Given the description of an element on the screen output the (x, y) to click on. 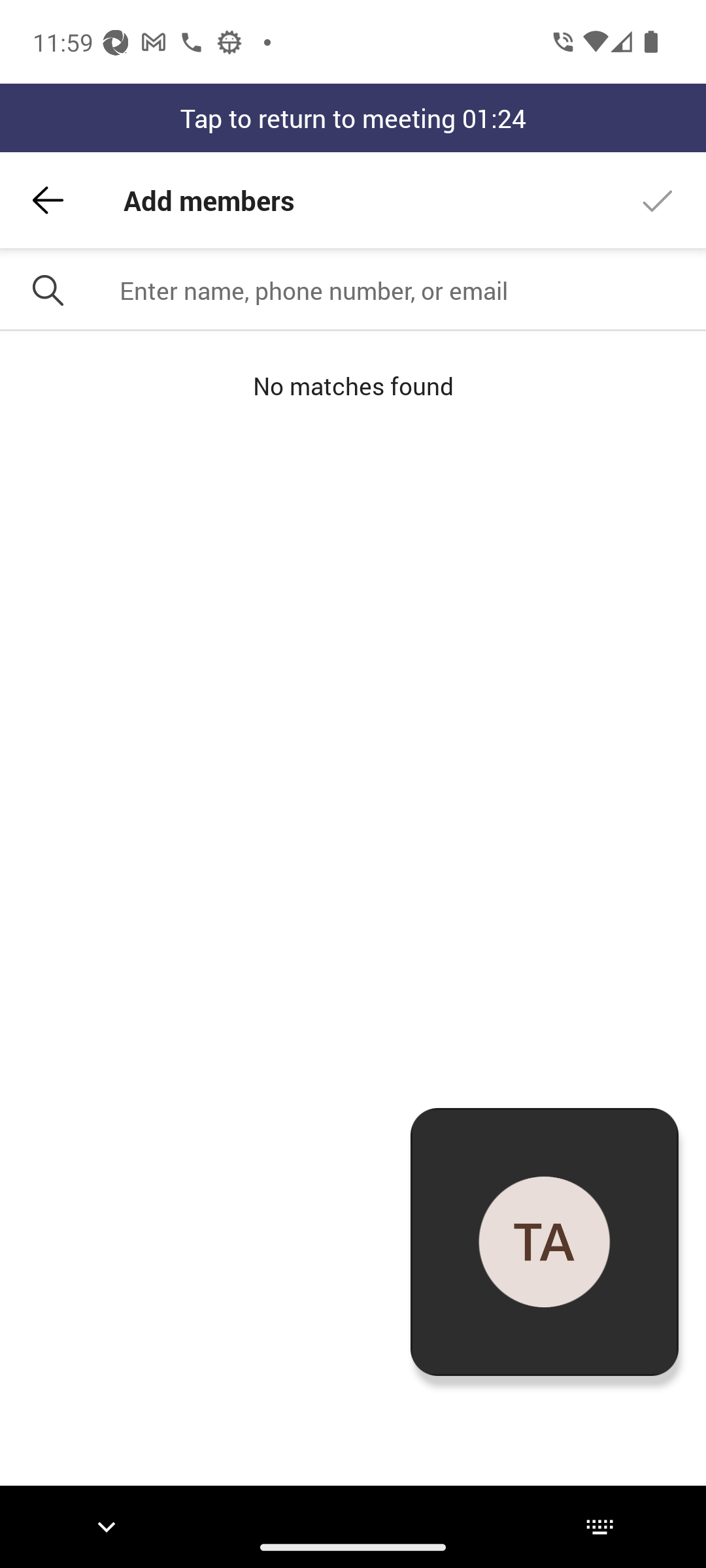
Tap to return to meeting 01:24 (353, 117)
Back (48, 199)
Enter name, phone number, or email (404, 289)
No matches found (353, 385)
